Given the description of an element on the screen output the (x, y) to click on. 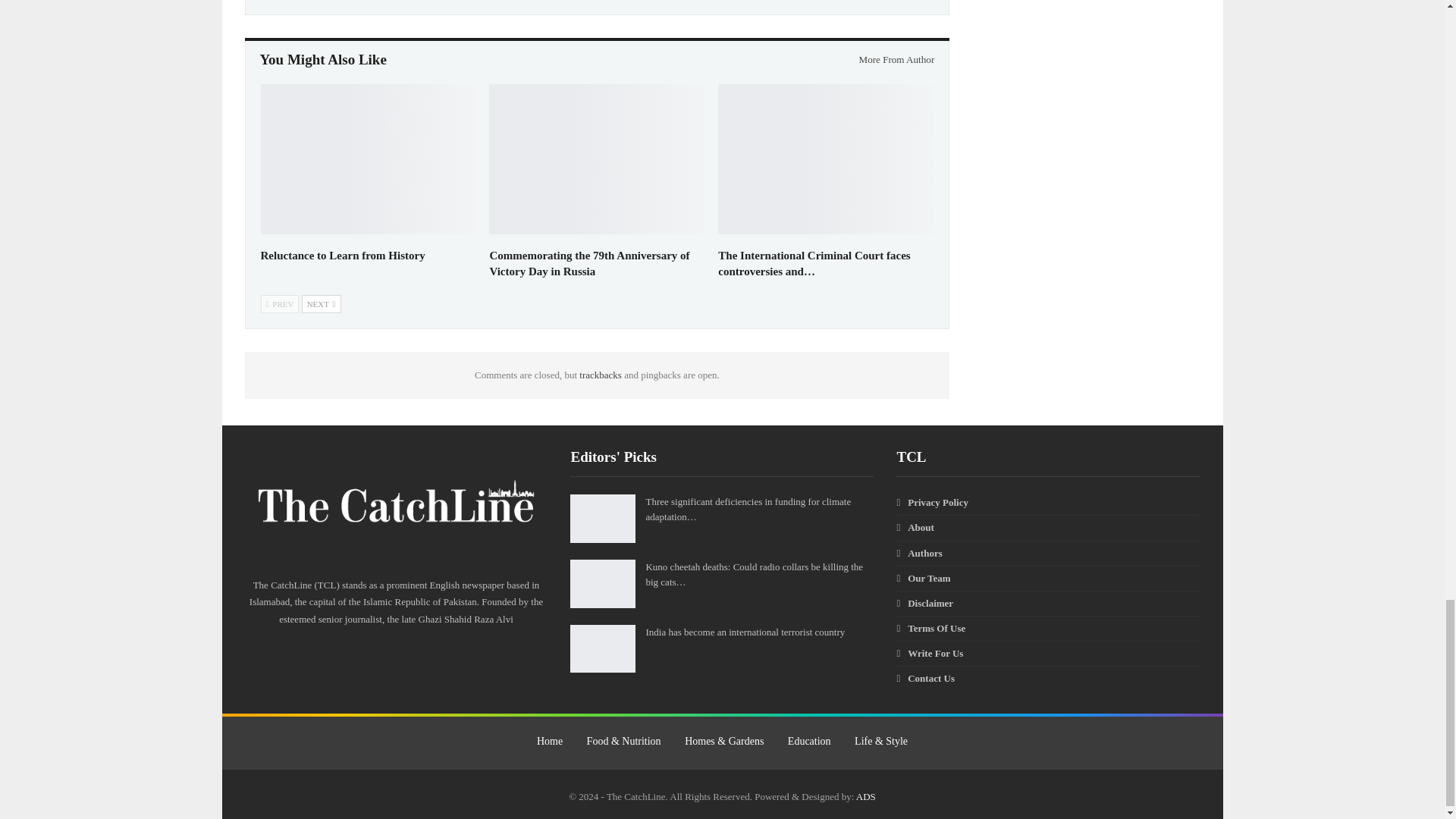
Commemorating the 79th Anniversary of Victory Day in Russia (588, 263)
Next (320, 303)
Reluctance to Learn from History (368, 159)
Previous (279, 303)
Commemorating the 79th Anniversary of Victory Day in Russia (596, 159)
Reluctance to Learn from History (342, 255)
